Given the description of an element on the screen output the (x, y) to click on. 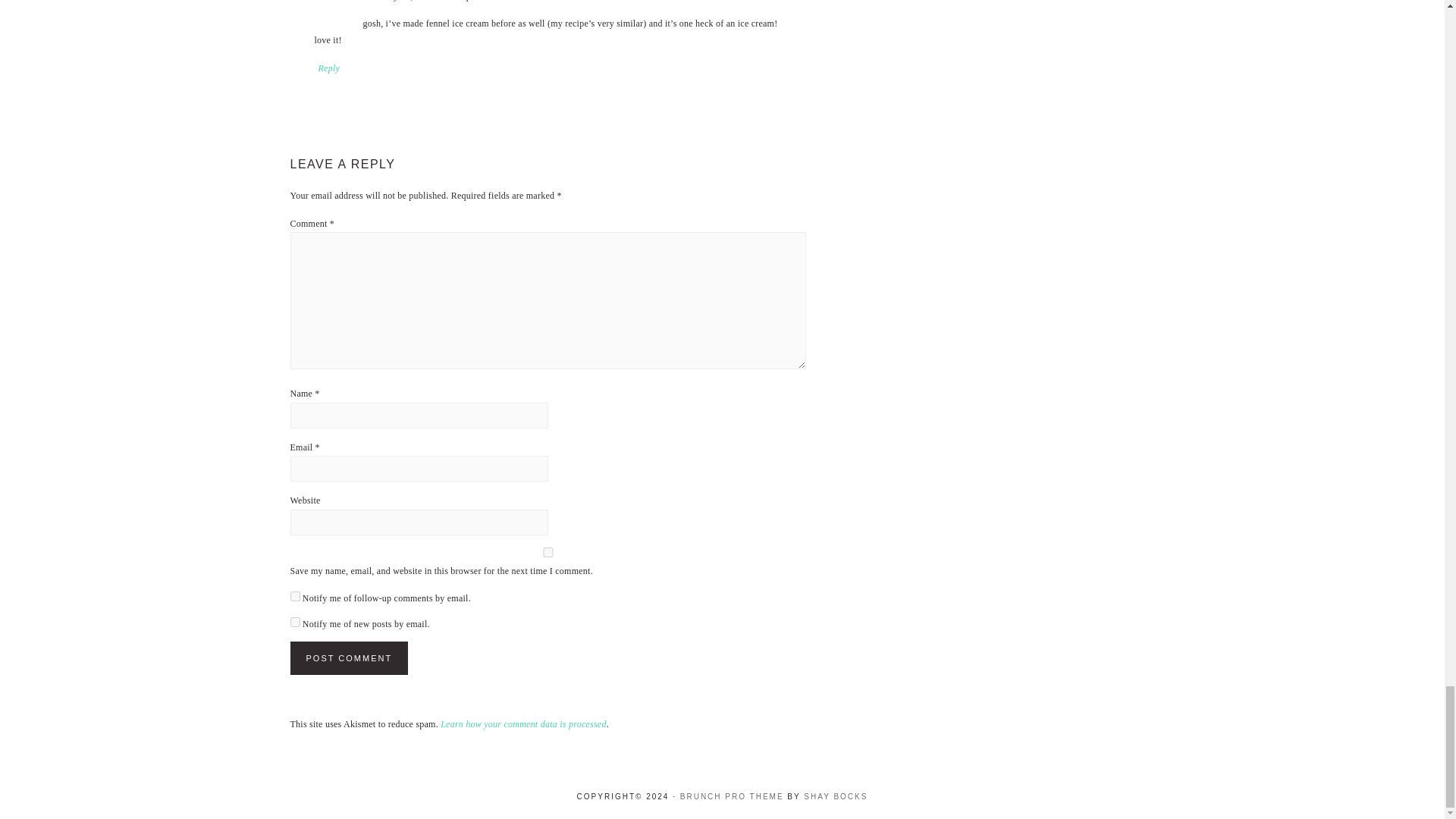
Reply (328, 68)
February 22, 2012 at 9:05 pm (419, 0)
subscribe (294, 596)
Post Comment (348, 657)
Learn how your comment data is processed (523, 724)
yes (547, 552)
Post Comment (348, 657)
subscribe (294, 622)
